Given the description of an element on the screen output the (x, y) to click on. 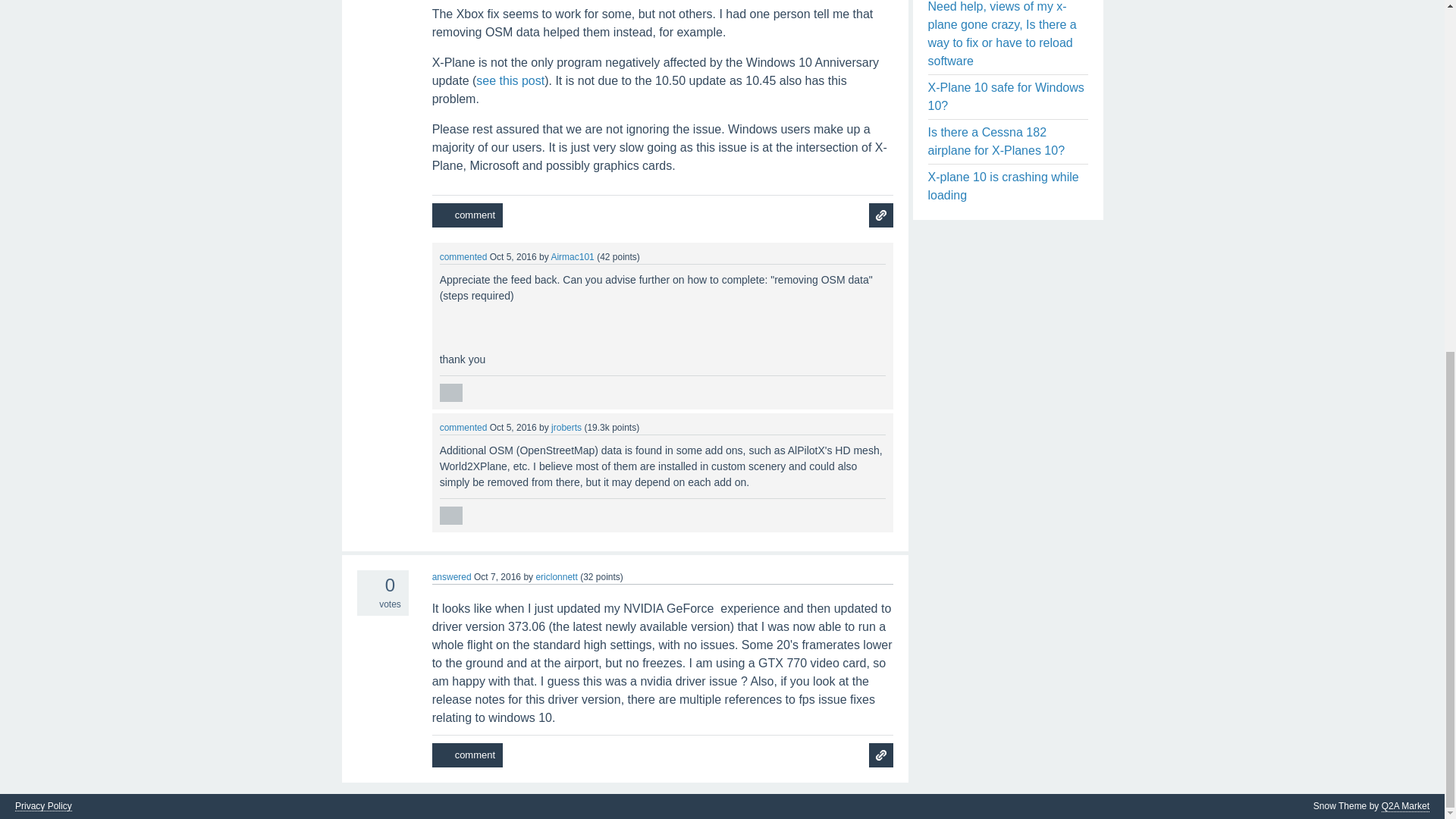
Airmac101 (572, 256)
Add a comment on this answer (467, 215)
ask related question (881, 754)
ask related question (881, 215)
Ask a new question relating to this answer (881, 754)
Click to vote up (365, 581)
Ask a new question relating to this answer (881, 215)
ask related question (881, 215)
Click to vote down (365, 604)
commented (463, 256)
